Given the description of an element on the screen output the (x, y) to click on. 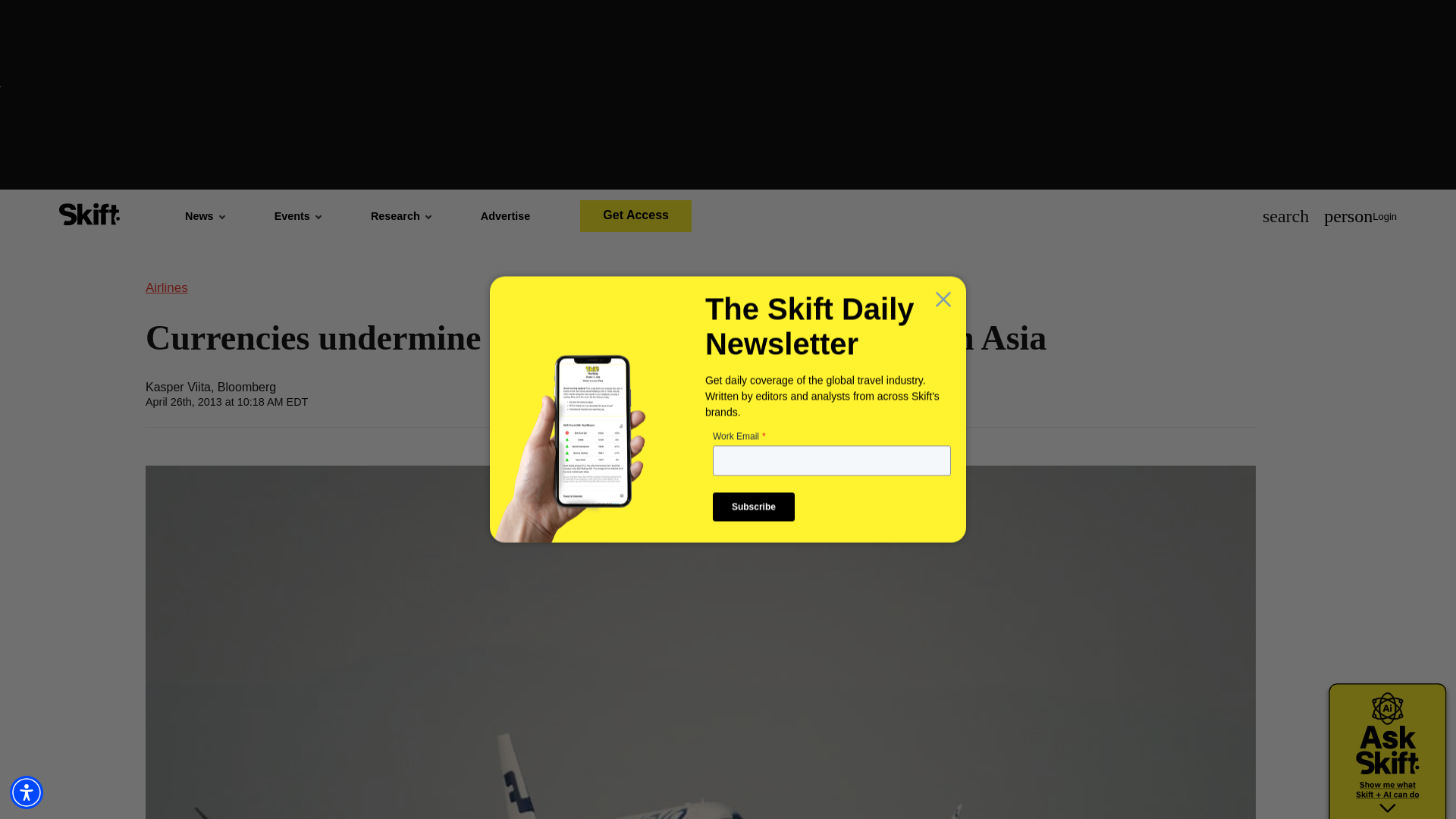
Accessibility Menu (26, 792)
Research (400, 215)
Popup CTA (727, 409)
